Given the description of an element on the screen output the (x, y) to click on. 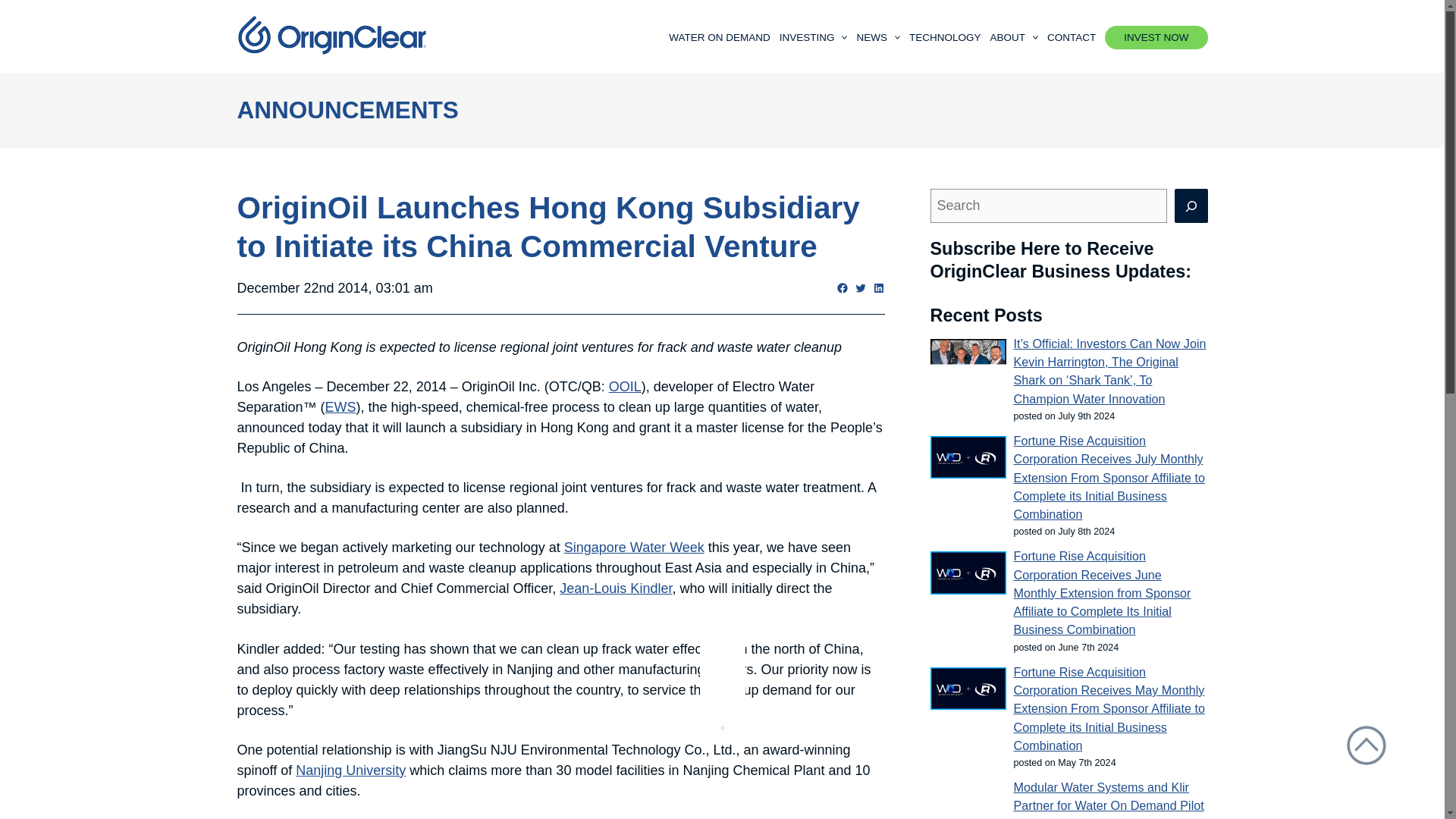
CONTACT (1071, 37)
ABOUT (1014, 37)
WATER ON DEMAND (719, 37)
TECHNOLOGY (944, 37)
INVEST NOW (1156, 37)
Scroll to Top (1366, 744)
INVESTING (812, 37)
NEWS (877, 37)
